Given the description of an element on the screen output the (x, y) to click on. 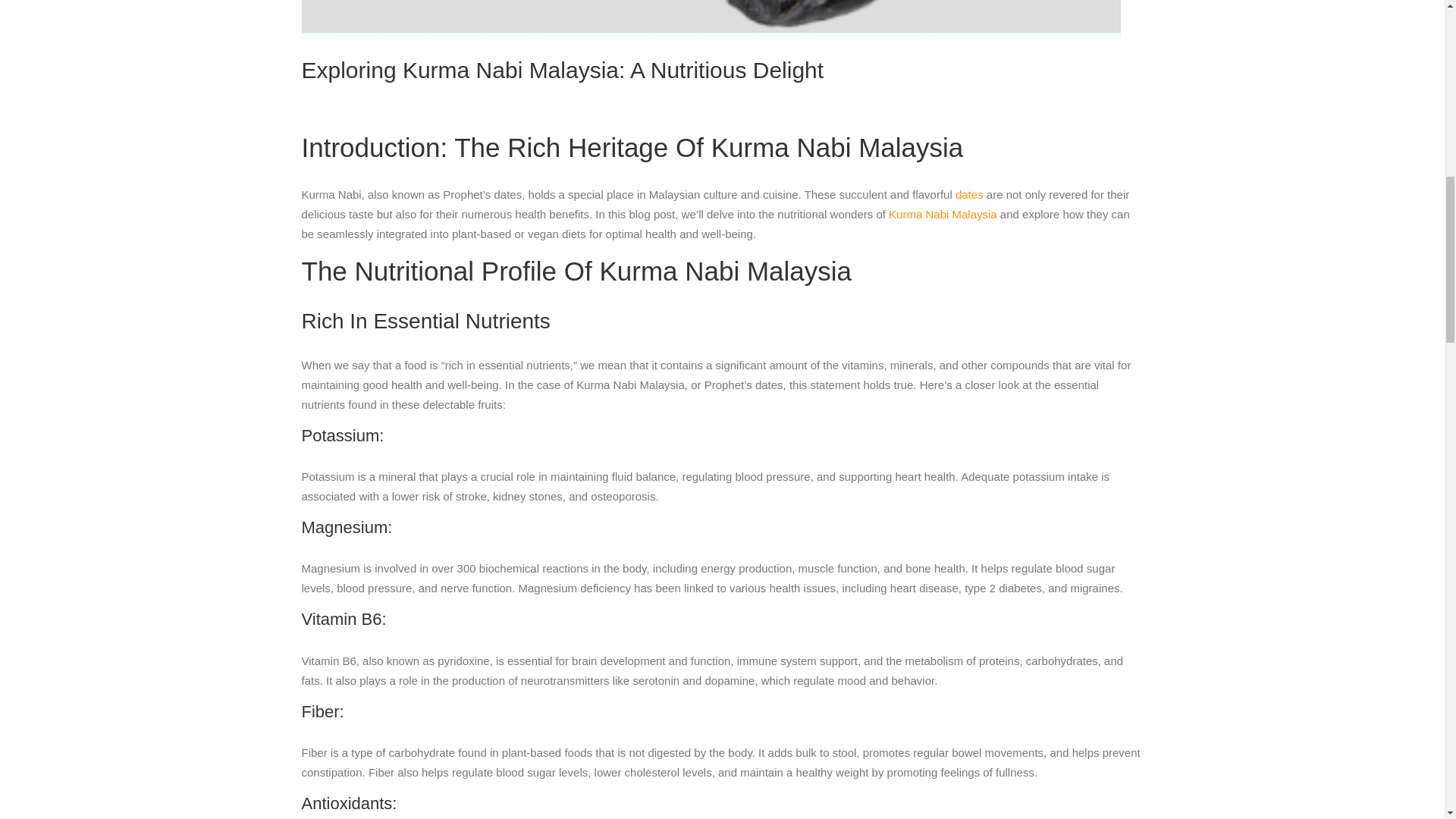
dates (969, 194)
Kurma Nabi (711, 20)
Kurma Nabi Malaysia (942, 214)
